Given the description of an element on the screen output the (x, y) to click on. 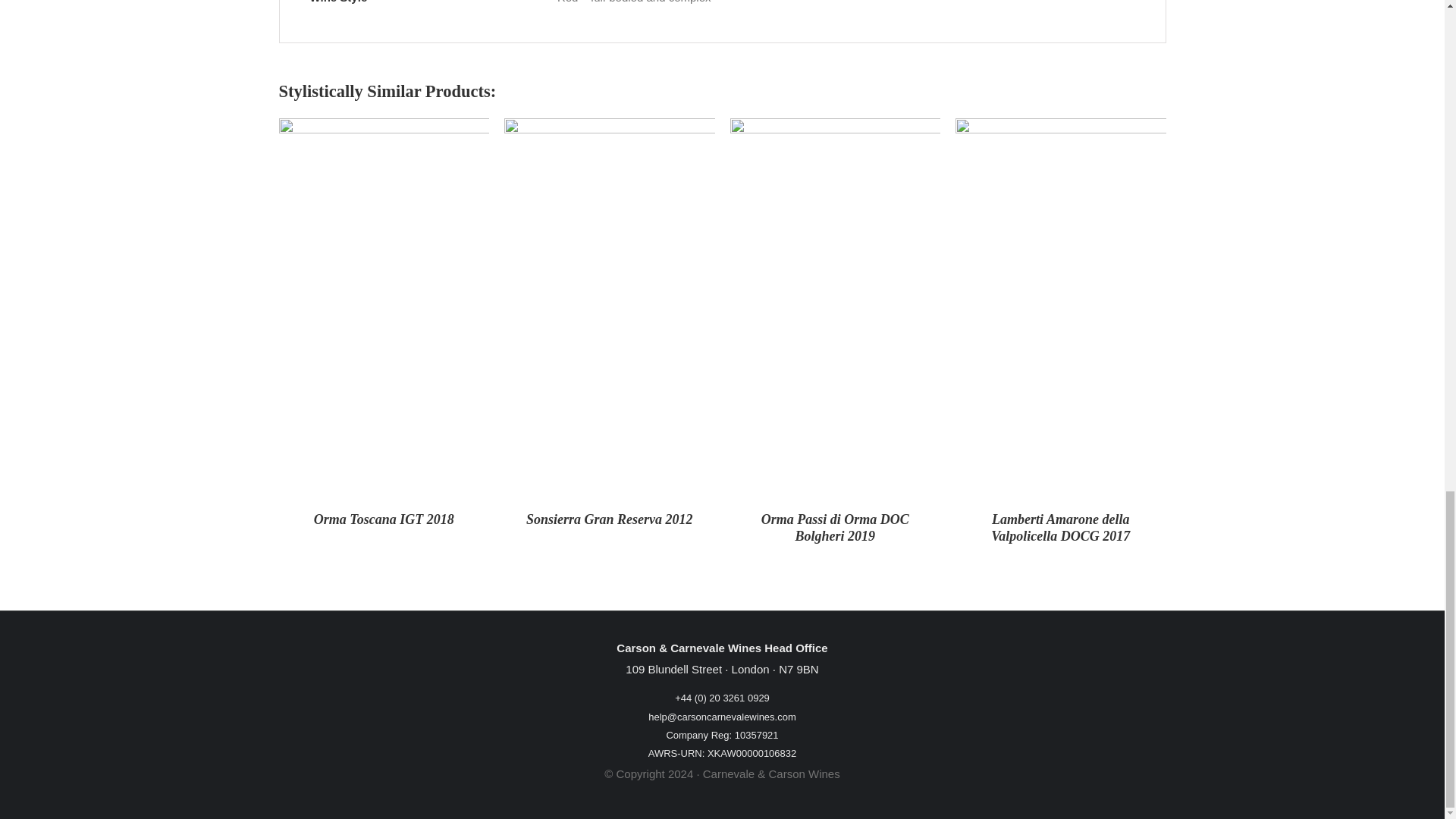
Orma Toscana IGT 2018 (384, 519)
London (751, 669)
109 Blundell Street (674, 669)
Sonsierra Gran Reserva 2012 (609, 519)
Orma Passi di Orma DOC Bolgheri 2019 (834, 527)
Lamberti Amarone della Valpolicella DOCG 2017 (1060, 527)
